Given the description of an element on the screen output the (x, y) to click on. 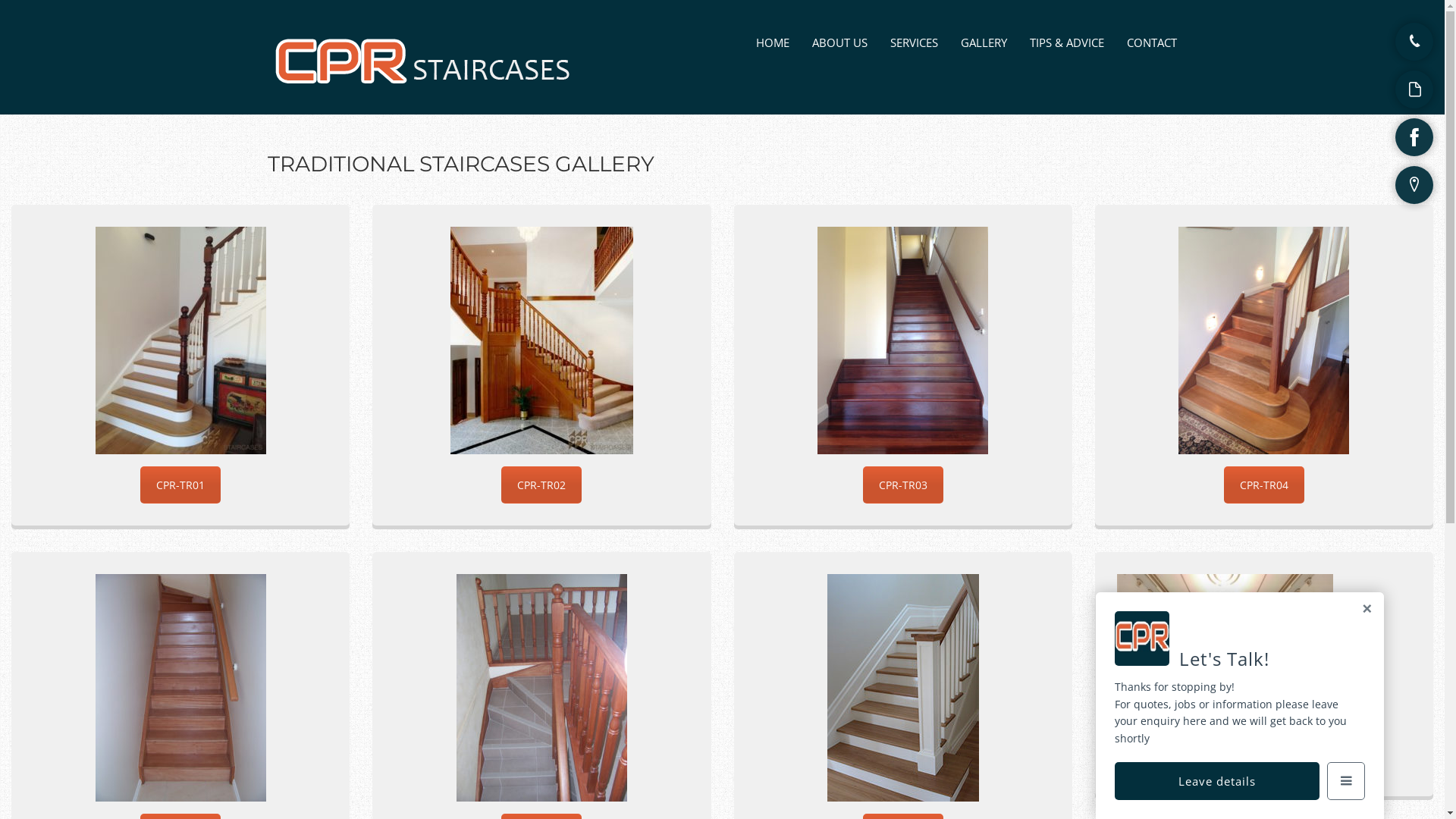
GALLERY Element type: text (983, 42)
ABOUT US Element type: text (839, 42)
TIPS & ADVICE Element type: text (1066, 42)
Leave details Element type: text (1216, 781)
Skip to content Element type: text (776, 35)
CPR Staircases Element type: hover (425, 87)
CPR-TR08 Element type: text (1263, 755)
CPR-TR03 Element type: text (902, 484)
CPR-TR04 Element type: text (1263, 484)
SERVICES Element type: text (914, 42)
CPR-TR02 Element type: text (541, 484)
CONTACT Element type: text (1151, 42)
CPR-TR01 Element type: text (180, 484)
HOME Element type: text (772, 42)
